Given the description of an element on the screen output the (x, y) to click on. 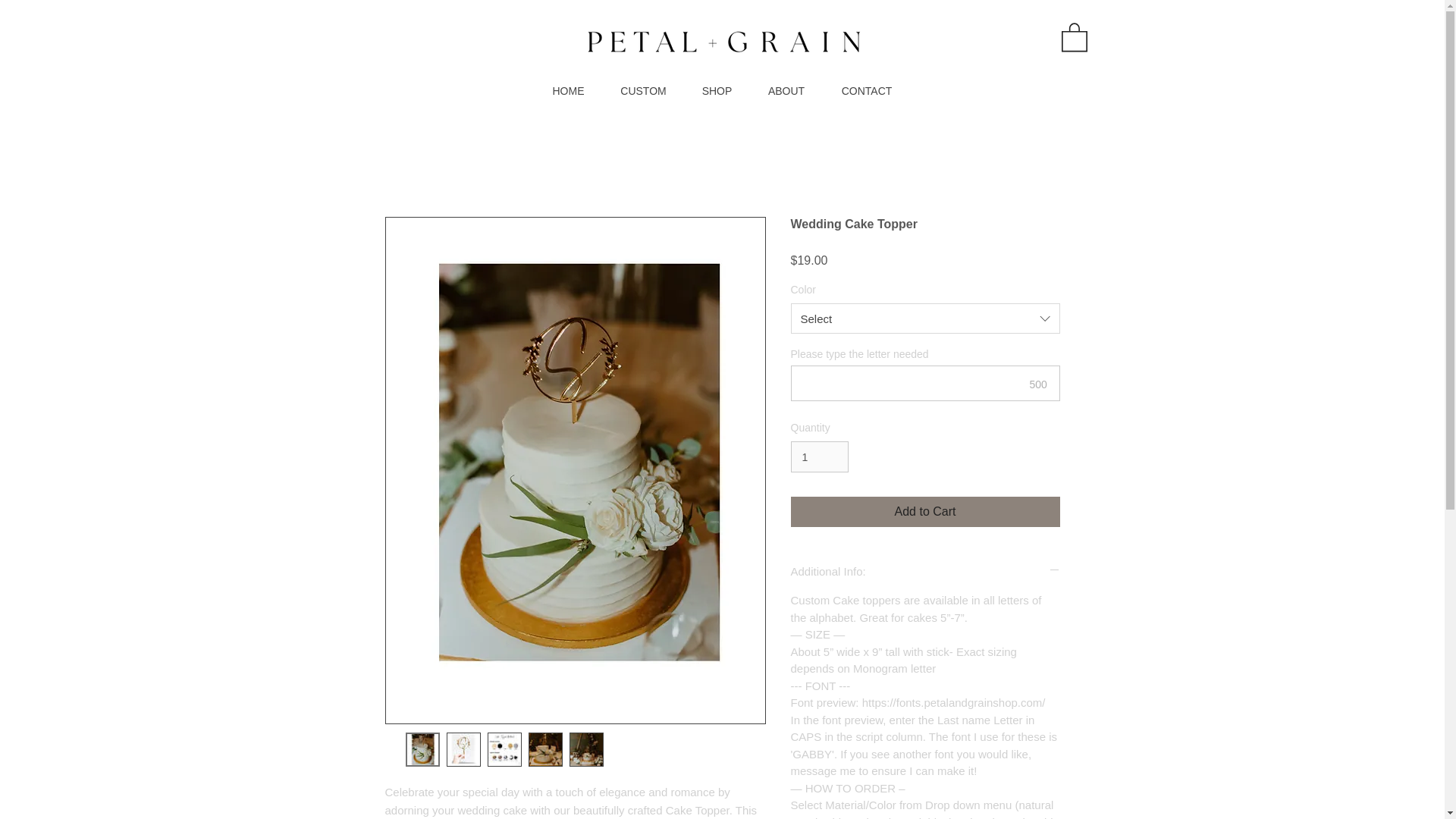
Additional Info: (924, 571)
HOME (568, 89)
1 (818, 456)
ABOUT (785, 89)
Add to Cart (924, 511)
SHOP (716, 89)
Select (924, 318)
petal and grain logo banner 1.png (722, 45)
CONTACT (867, 89)
CUSTOM (643, 89)
